Given the description of an element on the screen output the (x, y) to click on. 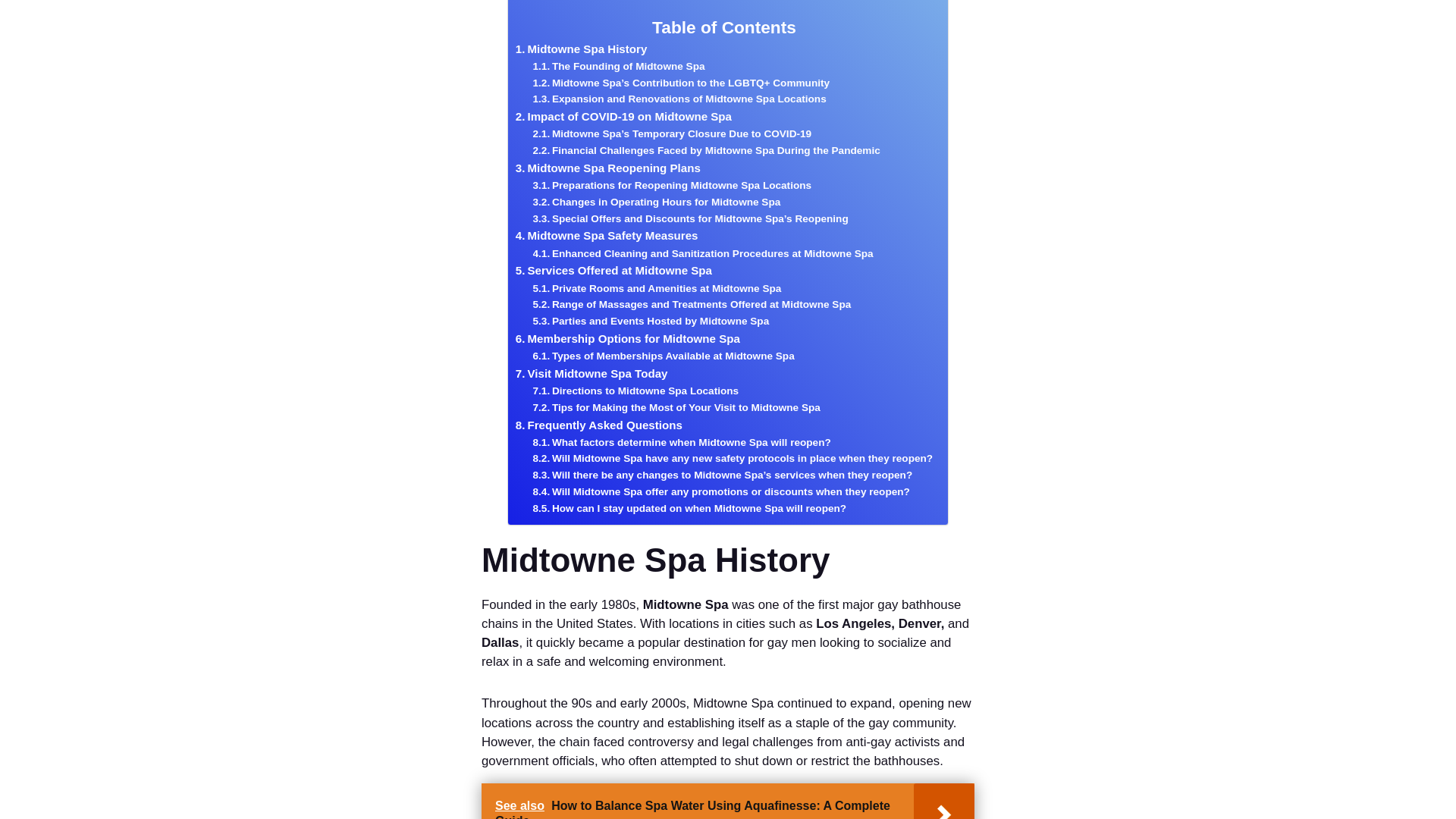
Midtowne Spa History (580, 49)
Expansion and Renovations of Midtowne Spa Locations (679, 98)
Midtowne Spa Safety Measures (606, 235)
Expansion and Renovations of Midtowne Spa Locations (679, 98)
Preparations for Reopening Midtowne Spa Locations (672, 185)
Impact of COVID-19 on Midtowne Spa (623, 116)
Private Rooms and Amenities at Midtowne Spa (656, 288)
Midtowne Spa History (580, 49)
Changes in Operating Hours for Midtowne Spa (656, 202)
Midtowne Spa Reopening Plans (607, 167)
Impact of COVID-19 on Midtowne Spa (623, 116)
Private Rooms and Amenities at Midtowne Spa (656, 288)
Midtowne Spa Safety Measures (606, 235)
